Given the description of an element on the screen output the (x, y) to click on. 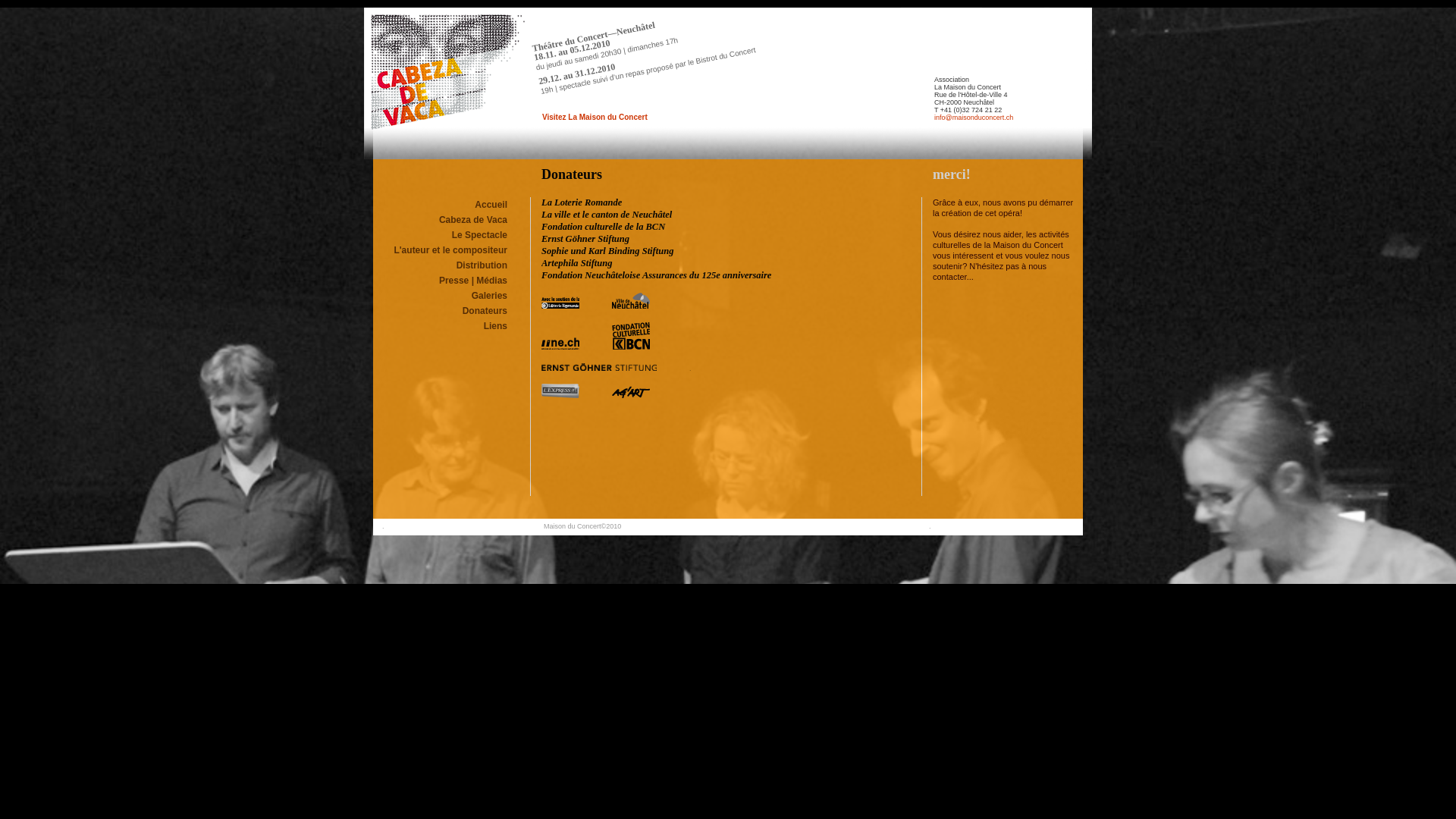
L'auteur et le compositeur Element type: text (450, 249)
info@maisonduconcert.ch Element type: text (973, 117)
Donateurs Element type: text (484, 310)
Visitez La Maison du Concert Element type: text (594, 116)
Accueil Element type: text (490, 204)
Distribution Element type: text (481, 265)
Galeries Element type: text (489, 295)
Cabeza de Vaca Element type: text (473, 219)
Le Spectacle Element type: text (479, 234)
Liens Element type: text (495, 325)
